Given the description of an element on the screen output the (x, y) to click on. 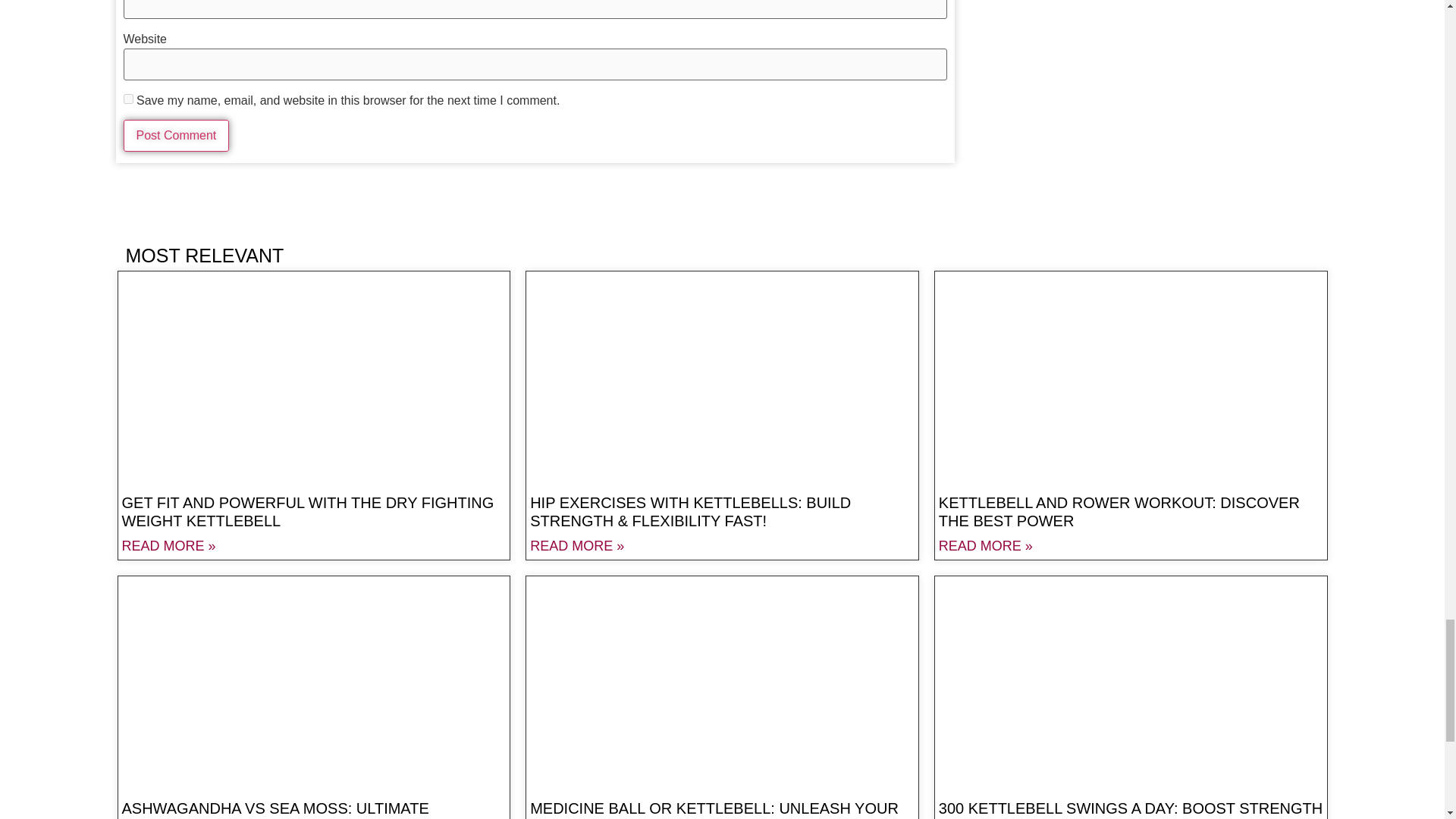
yes (127, 99)
Post Comment (175, 135)
